Given the description of an element on the screen output the (x, y) to click on. 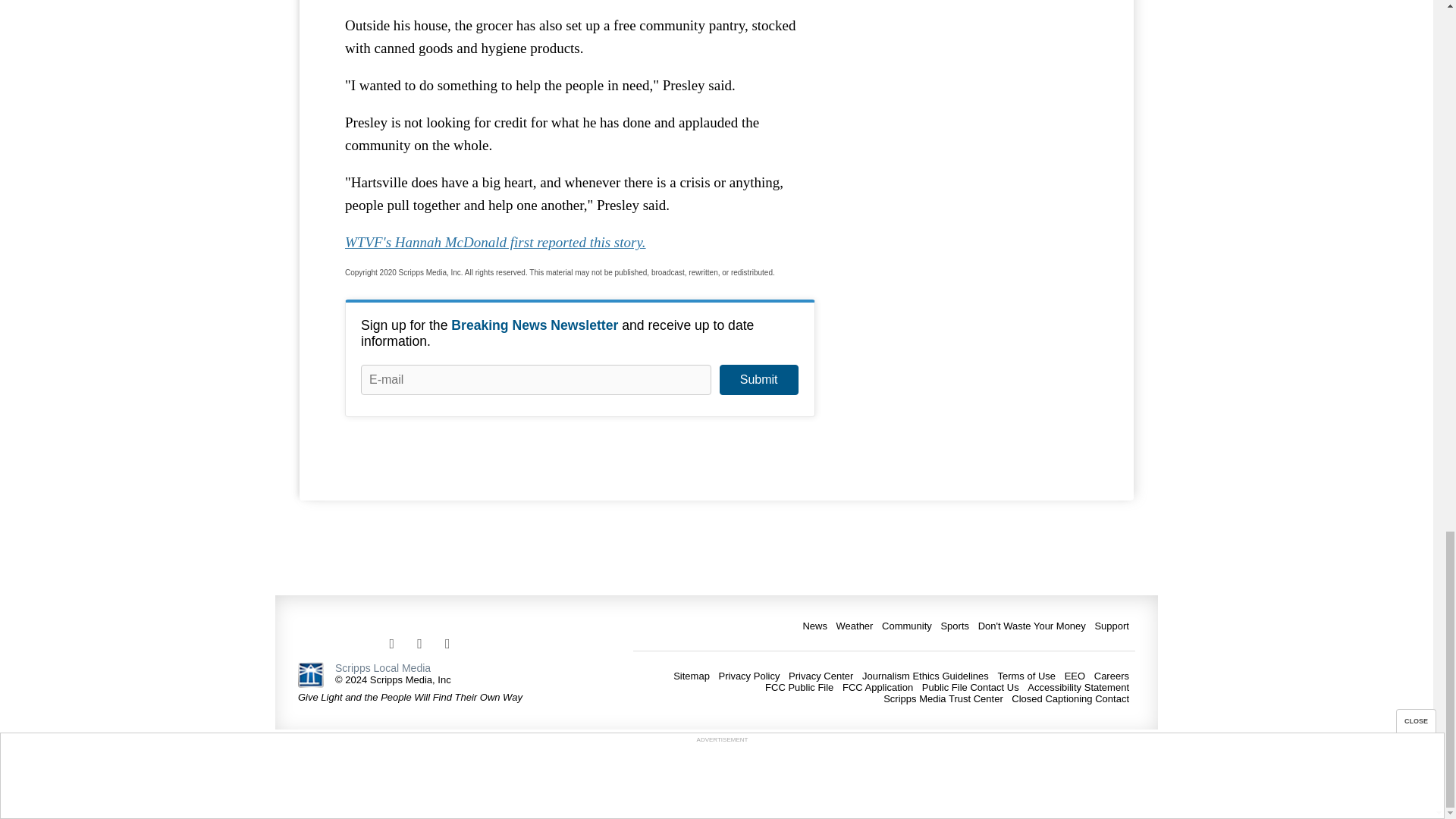
Submit (758, 379)
